Given the description of an element on the screen output the (x, y) to click on. 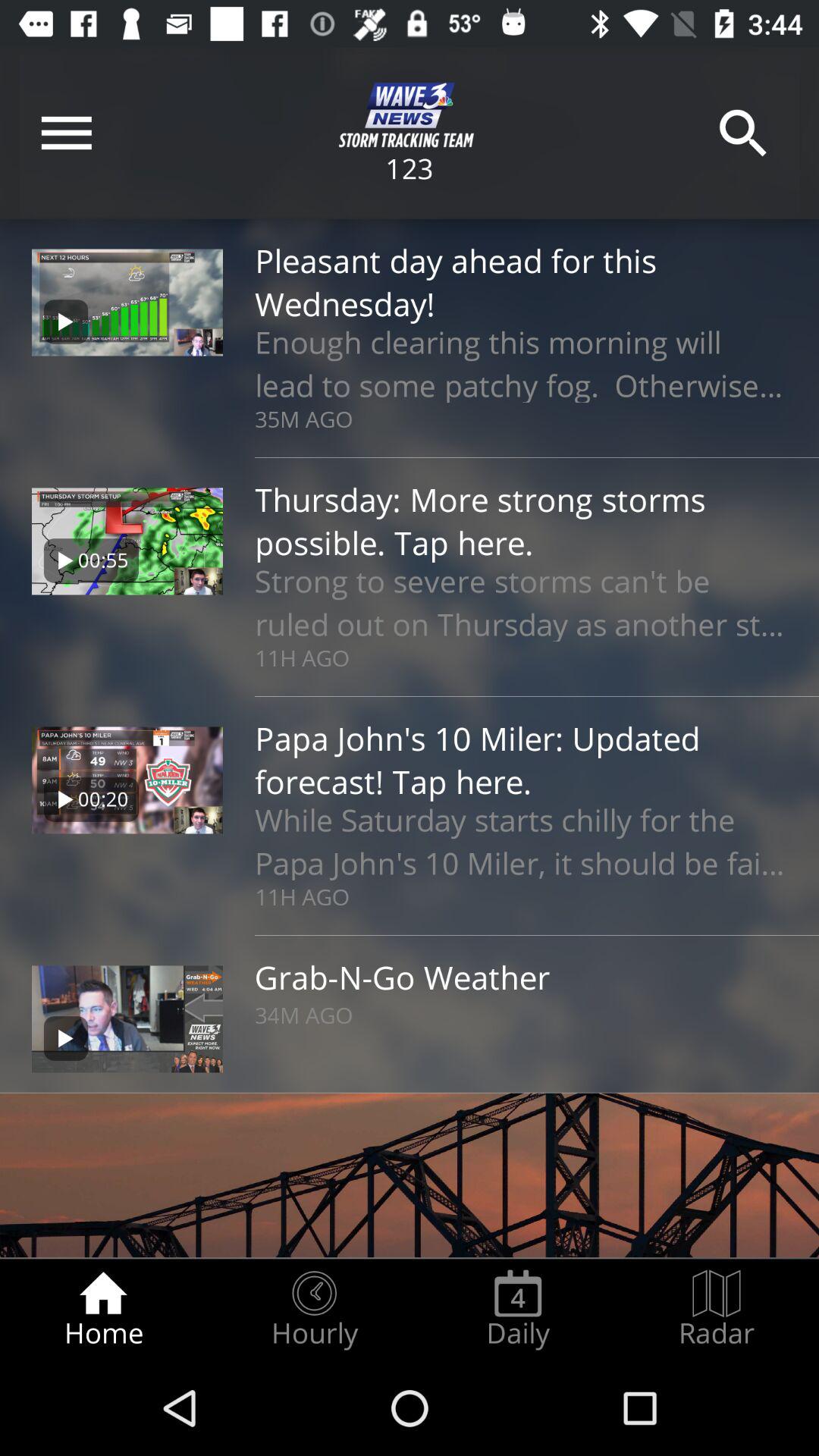
turn off the hourly radio button (314, 1309)
